Given the description of an element on the screen output the (x, y) to click on. 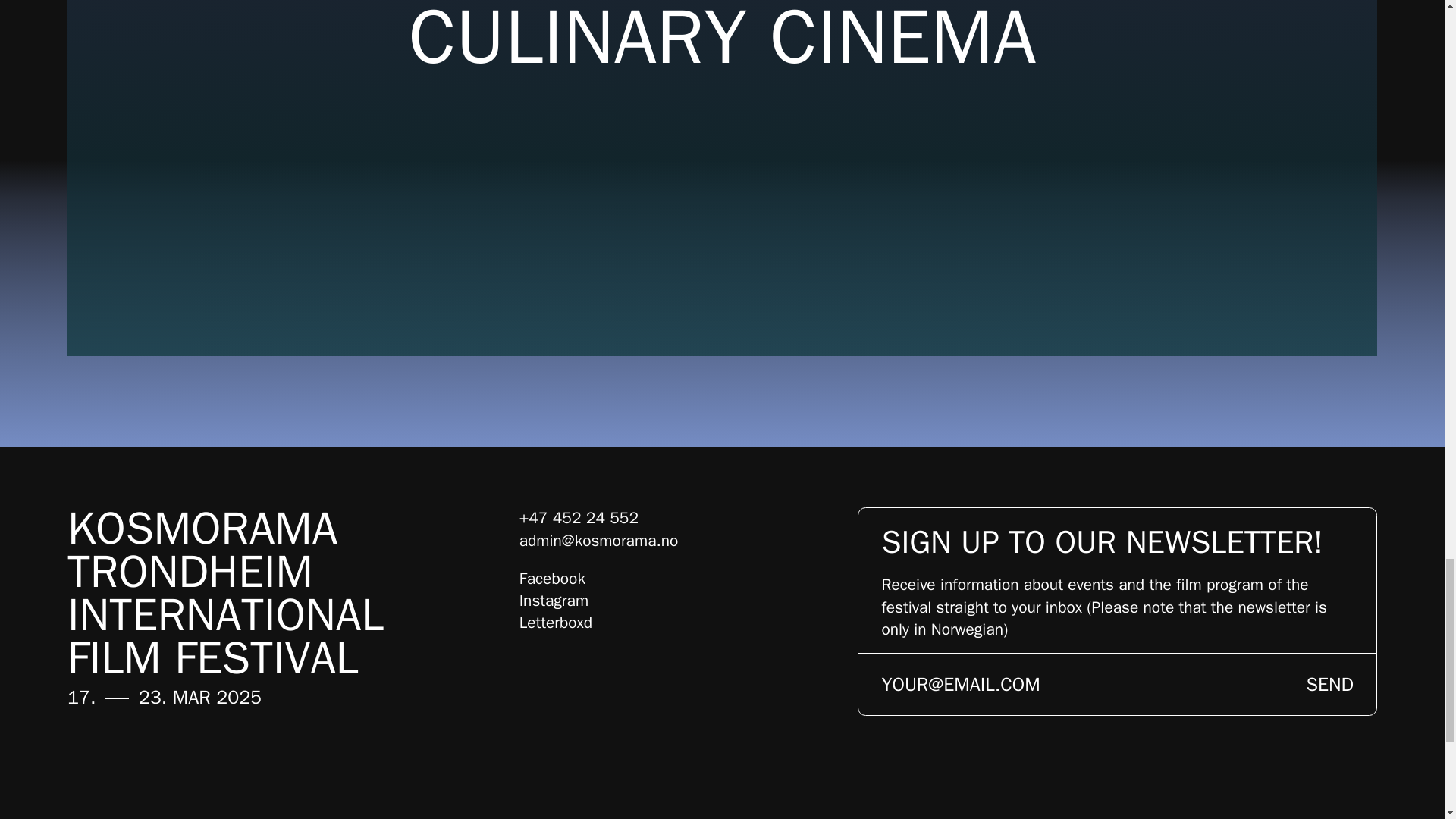
Instagram (553, 600)
Facebook (552, 578)
CULINARY CINEMA (722, 34)
SEND (1329, 683)
Letterboxd (555, 622)
